Given the description of an element on the screen output the (x, y) to click on. 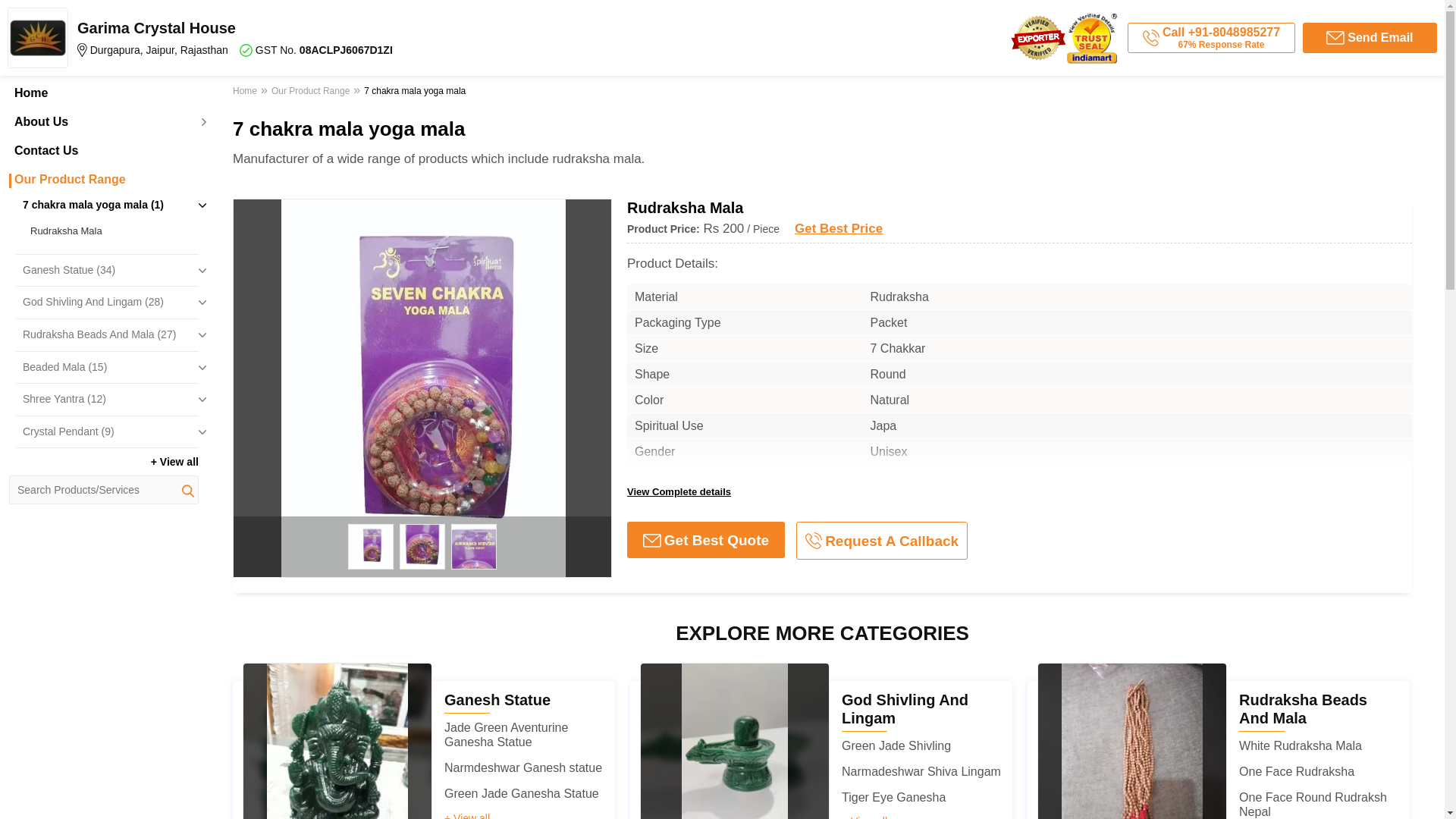
Home (103, 92)
About Us (103, 121)
Rudraksha Mala (110, 231)
Our Product Range (103, 179)
Contact Us (103, 150)
